Given the description of an element on the screen output the (x, y) to click on. 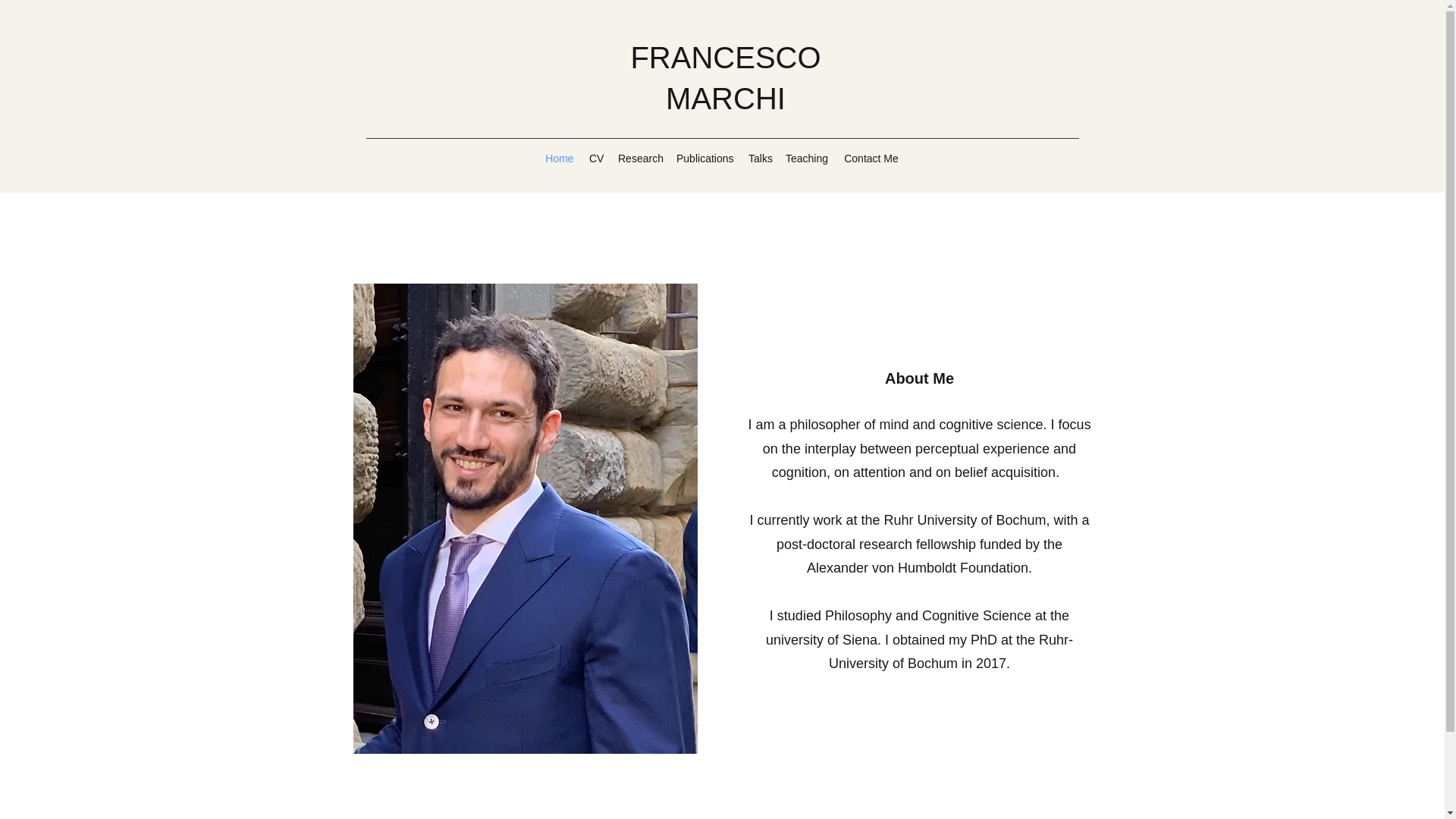
Research (639, 158)
FRANCESCO MARCHI (725, 77)
Publications (704, 158)
Contact Me (871, 158)
Home (558, 158)
Teaching (806, 158)
CV (595, 158)
Talks (759, 158)
